Given the description of an element on the screen output the (x, y) to click on. 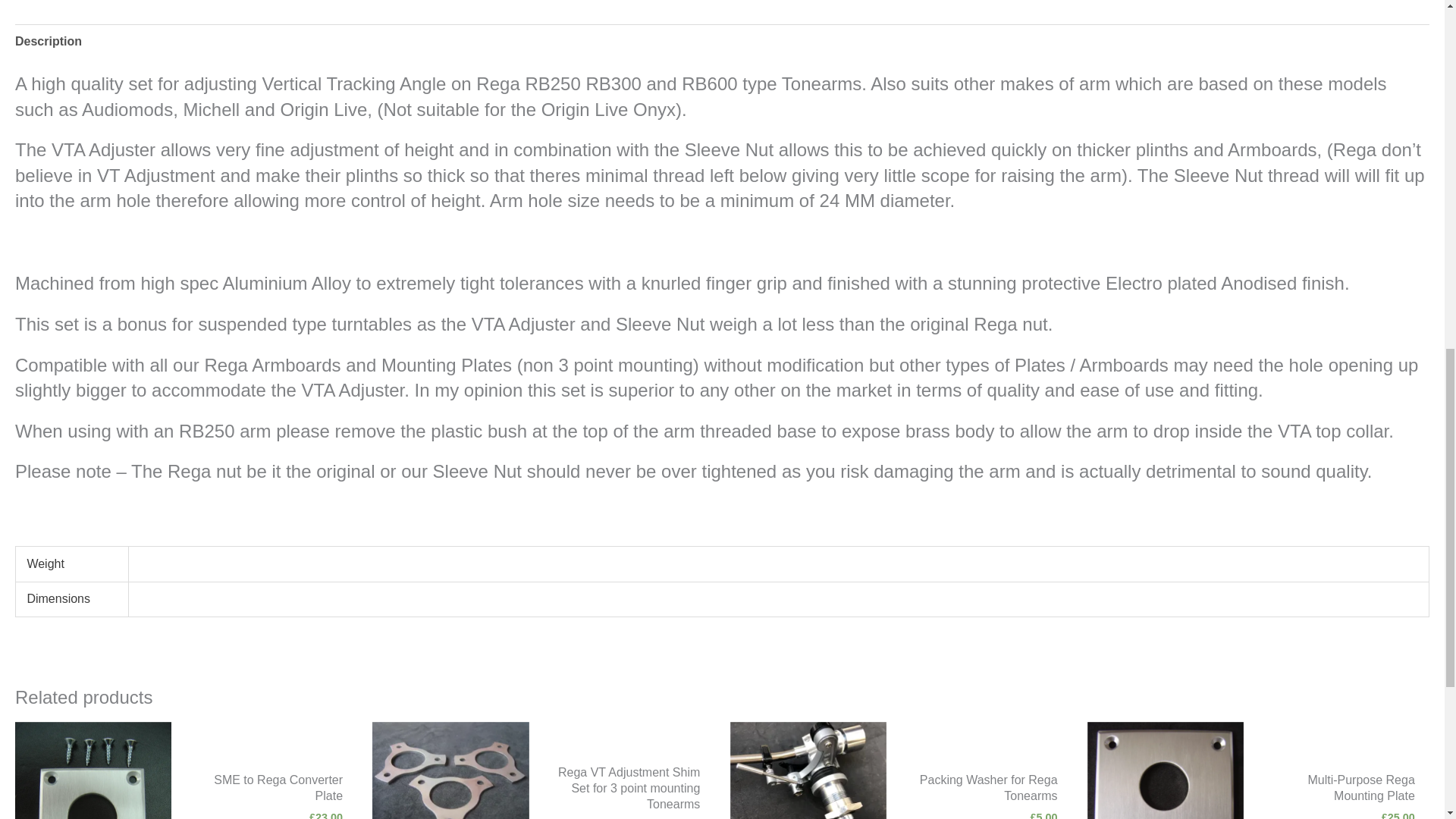
Share on LinkedIn (1082, 511)
Share on Facebook (120, 511)
Share on X (361, 511)
Send over email (842, 511)
Print this webpage (1323, 511)
Description (47, 41)
Save to Pinterest (601, 511)
